Given the description of an element on the screen output the (x, y) to click on. 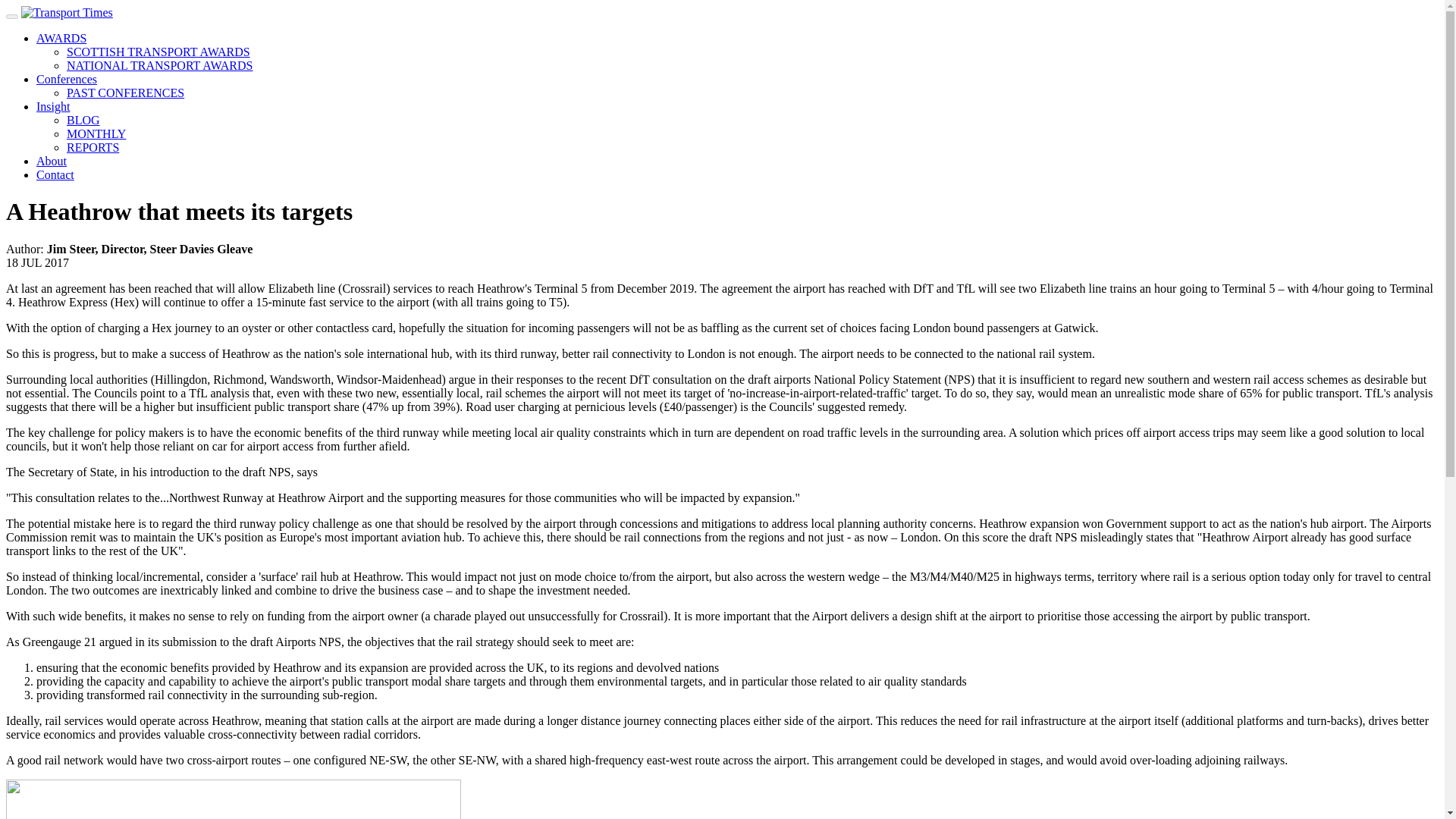
BLOG (83, 119)
About (51, 160)
NATIONAL TRANSPORT AWARDS (159, 65)
MONTHLY (95, 133)
REPORTS (92, 146)
Insight (52, 106)
SCOTTISH TRANSPORT AWARDS (158, 51)
AWARDS (60, 38)
Conferences (66, 78)
PAST CONFERENCES (125, 92)
